Given the description of an element on the screen output the (x, y) to click on. 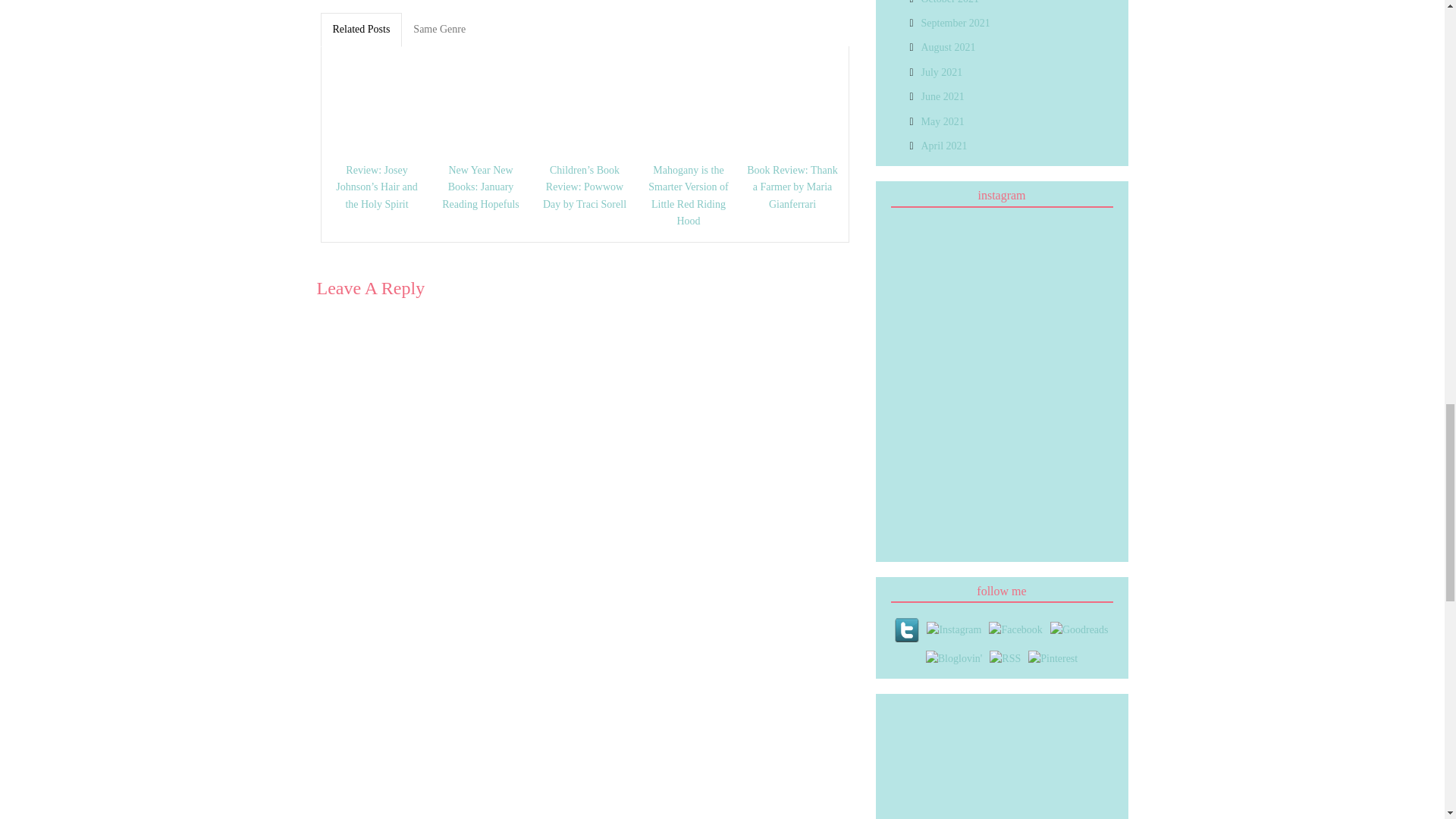
Frequently Auto-Approved (1041, 731)
Reviews Published (980, 731)
50 Book Reviews (919, 731)
Professional Reader (919, 790)
